Given the description of an element on the screen output the (x, y) to click on. 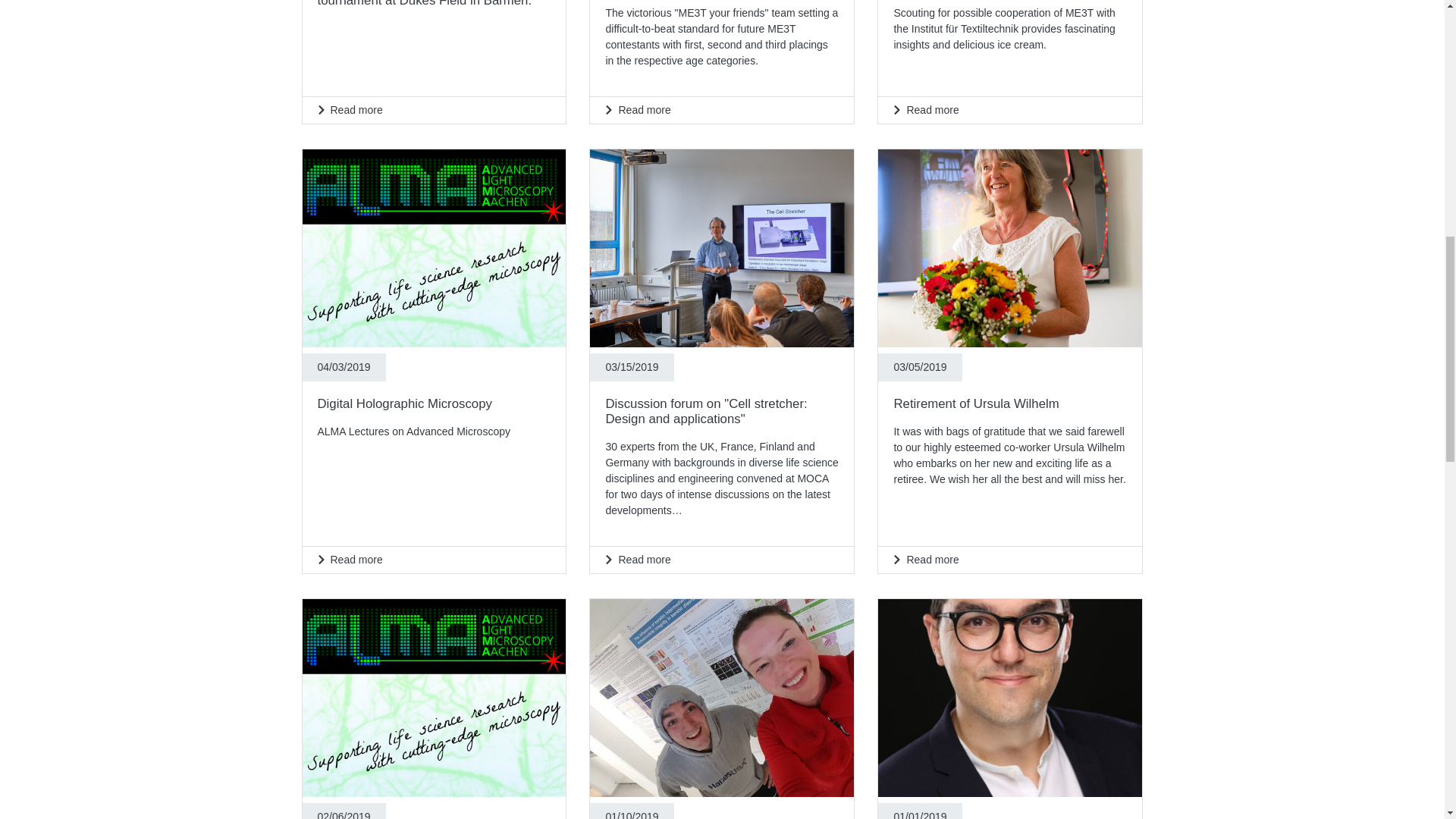
Digital Holographic Microscopy (433, 560)
Campuslauf 2019 (721, 110)
Digital Holographic Microscopy (433, 248)
ME3T (1009, 110)
